Given the description of an element on the screen output the (x, y) to click on. 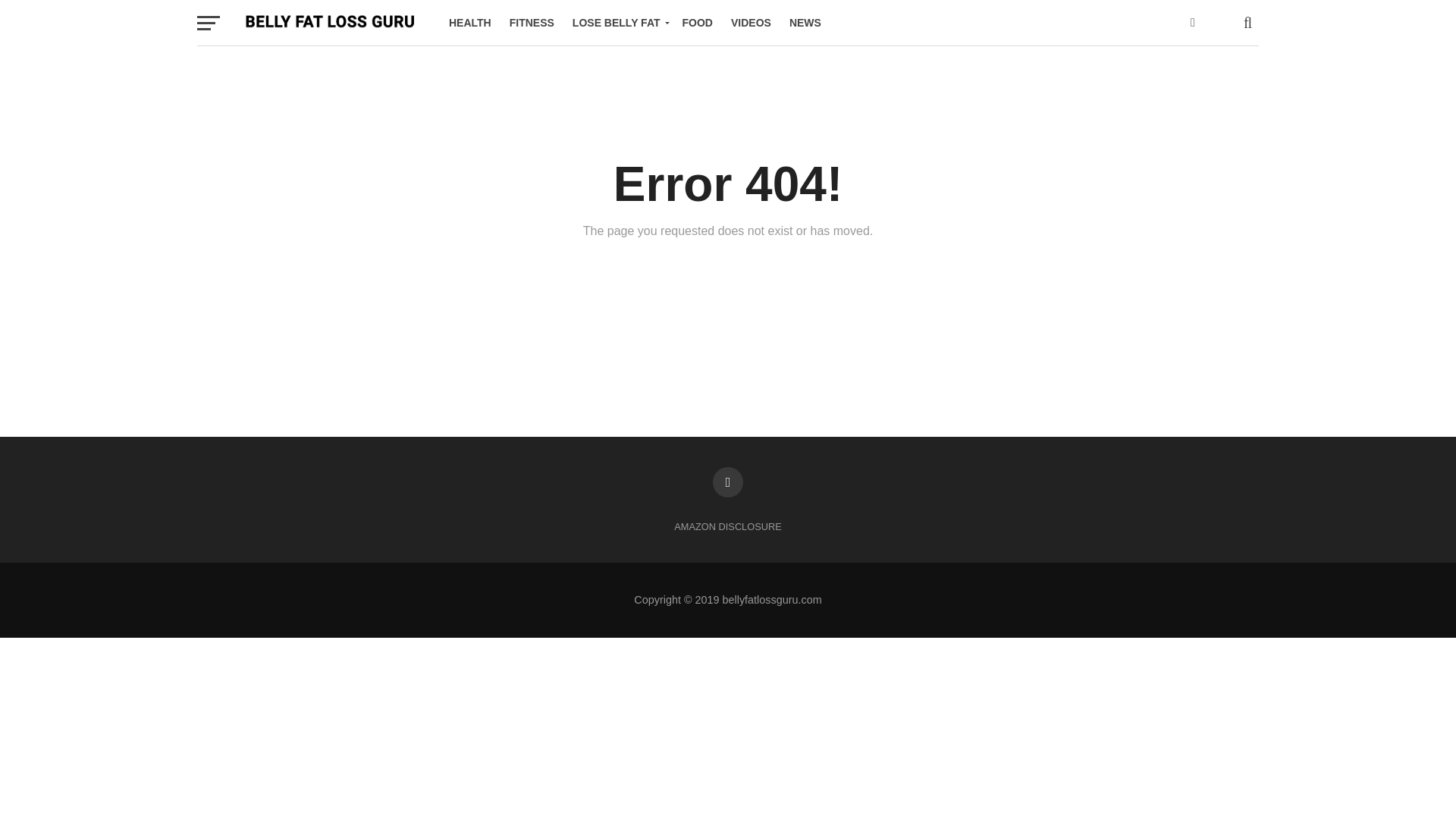
FITNESS (531, 22)
AMAZON DISCLOSURE (727, 526)
VIDEOS (751, 22)
NEWS (804, 22)
HEALTH (469, 22)
FOOD (697, 22)
LOSE BELLY FAT (617, 22)
